Given the description of an element on the screen output the (x, y) to click on. 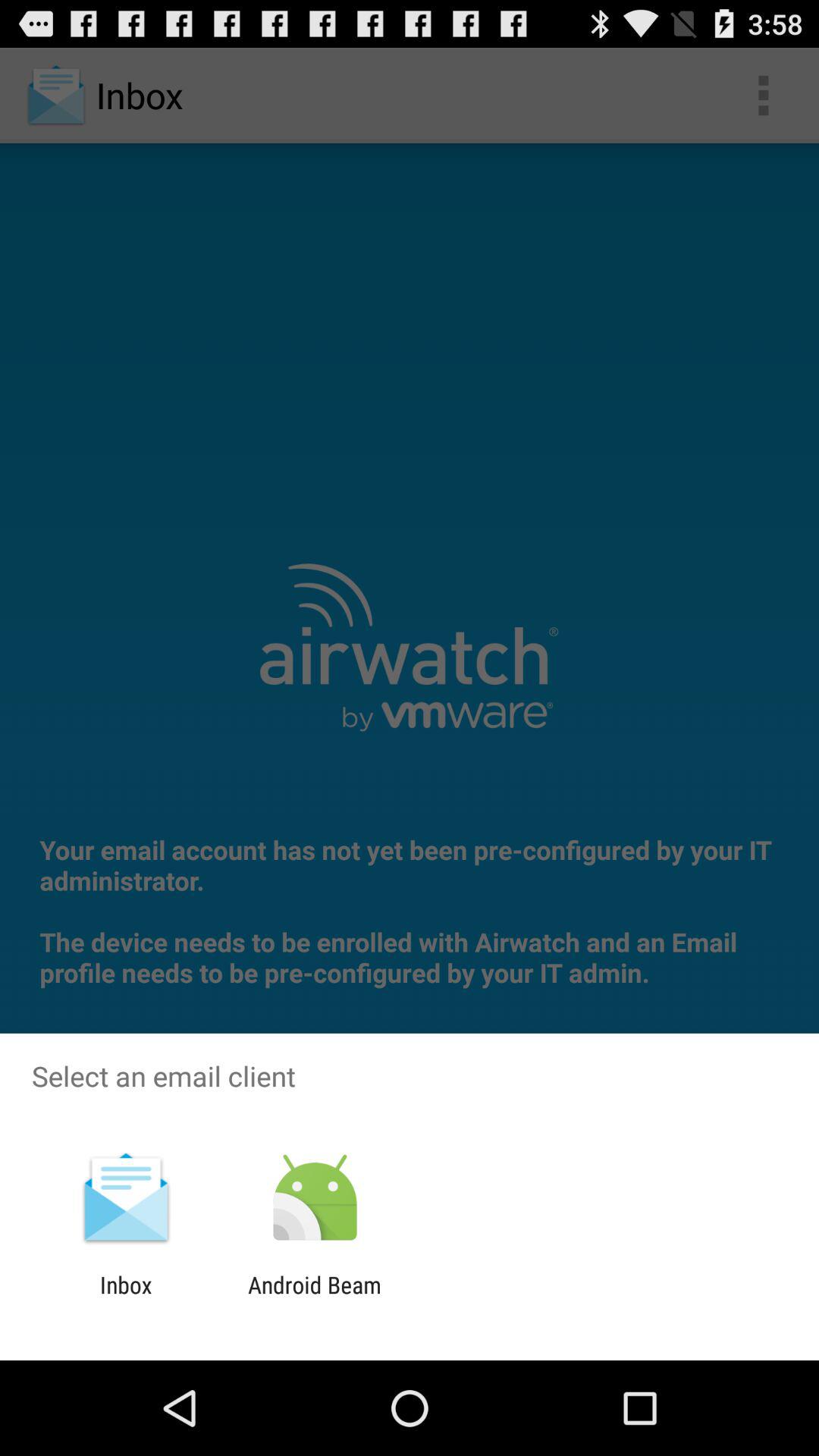
flip to inbox icon (125, 1298)
